Given the description of an element on the screen output the (x, y) to click on. 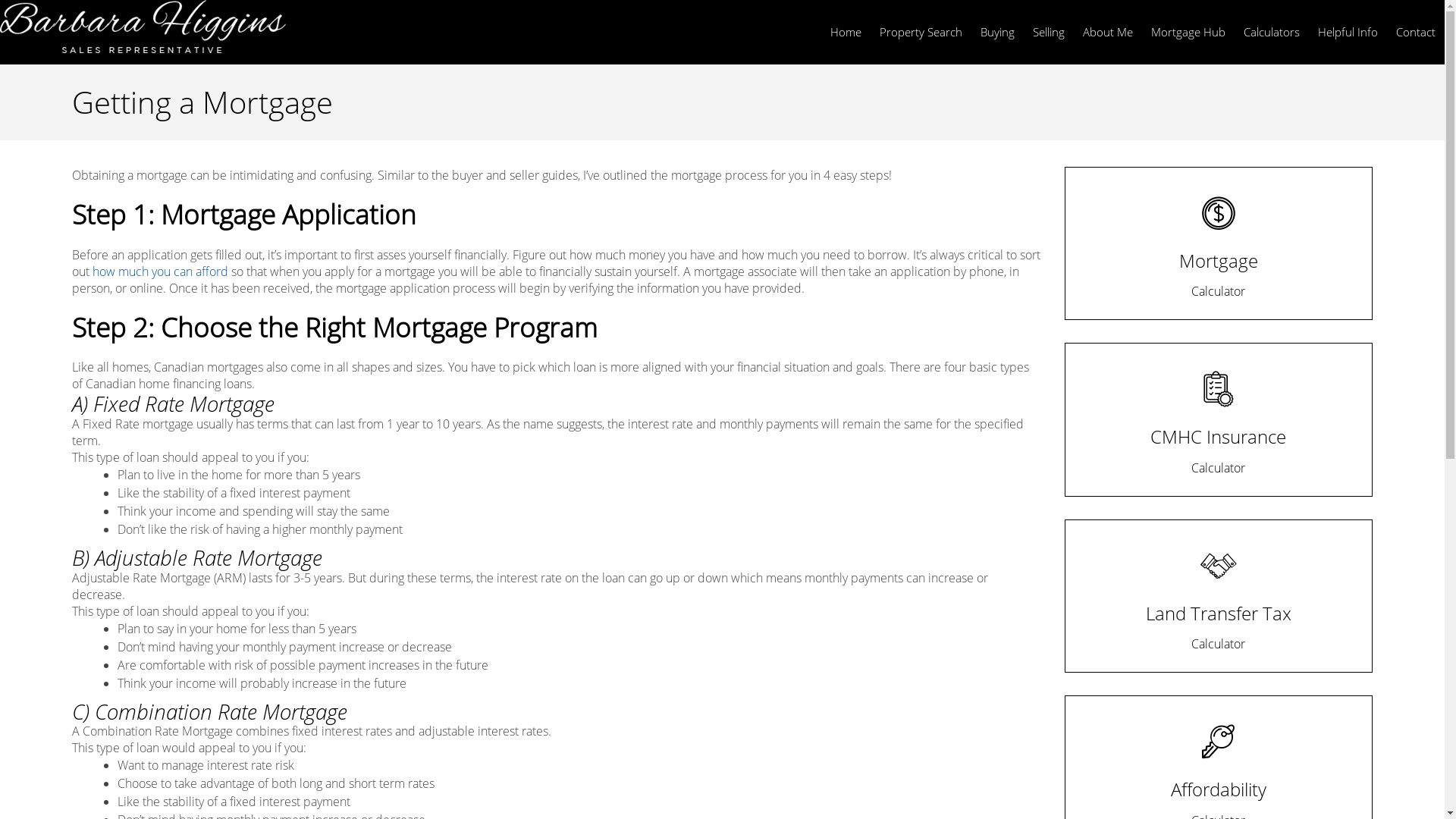
Helpful Info Element type: text (1347, 32)
Selling Element type: text (1048, 32)
Mortgage Hub Element type: text (1188, 32)
Land Transfer Tax
Calculator Element type: text (1218, 595)
Home Element type: text (845, 32)
CMHC Insurance
Calculator Element type: text (1218, 419)
how much you can afford Element type: text (160, 270)
Calculators Element type: text (1271, 32)
Property Search Element type: text (920, 32)
Contact Element type: text (1415, 32)
Mortgage
Calculator Element type: text (1218, 243)
Buying Element type: text (997, 32)
About Me Element type: text (1107, 32)
